Given the description of an element on the screen output the (x, y) to click on. 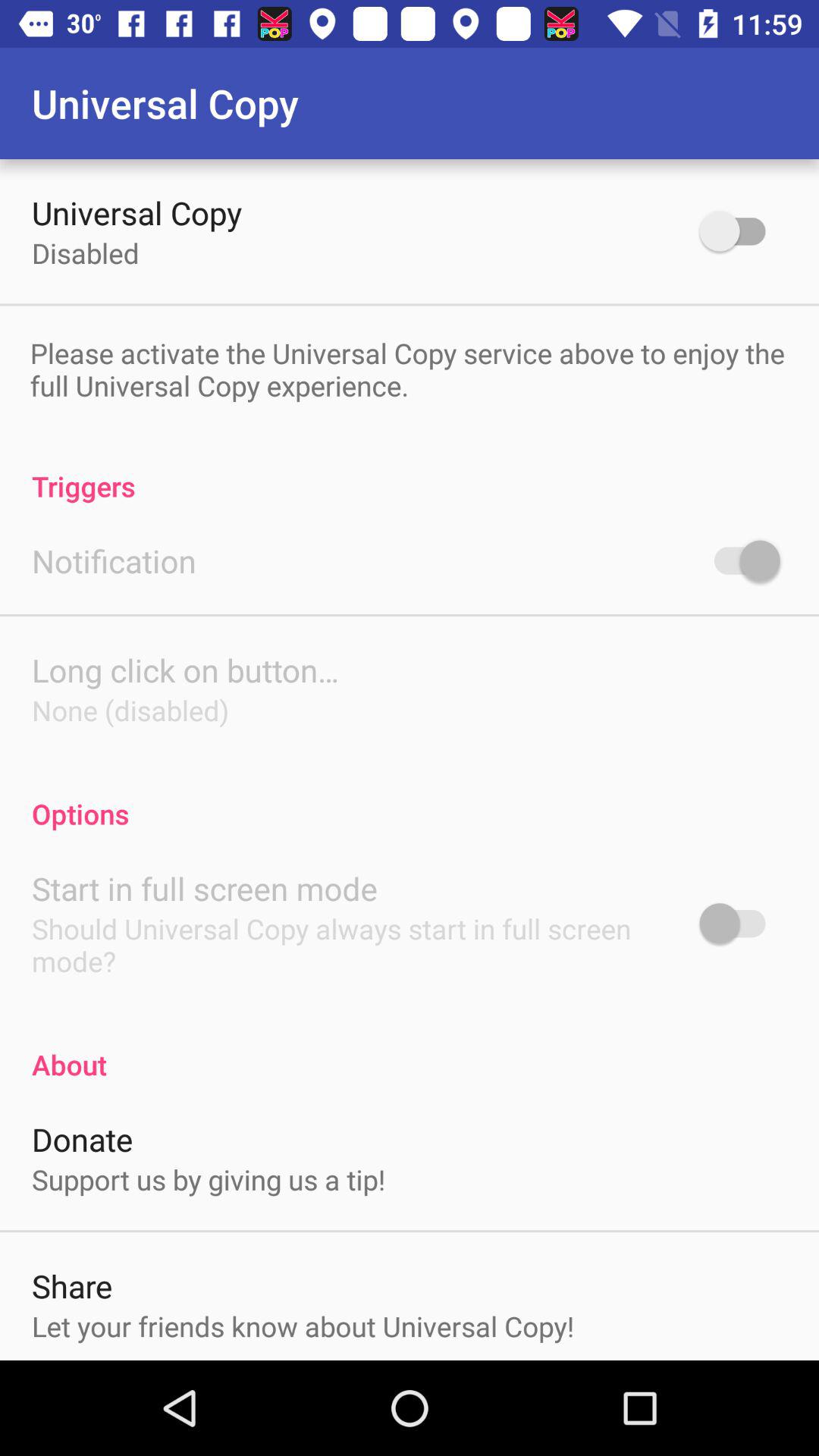
turn on item below the donate (208, 1179)
